Given the description of an element on the screen output the (x, y) to click on. 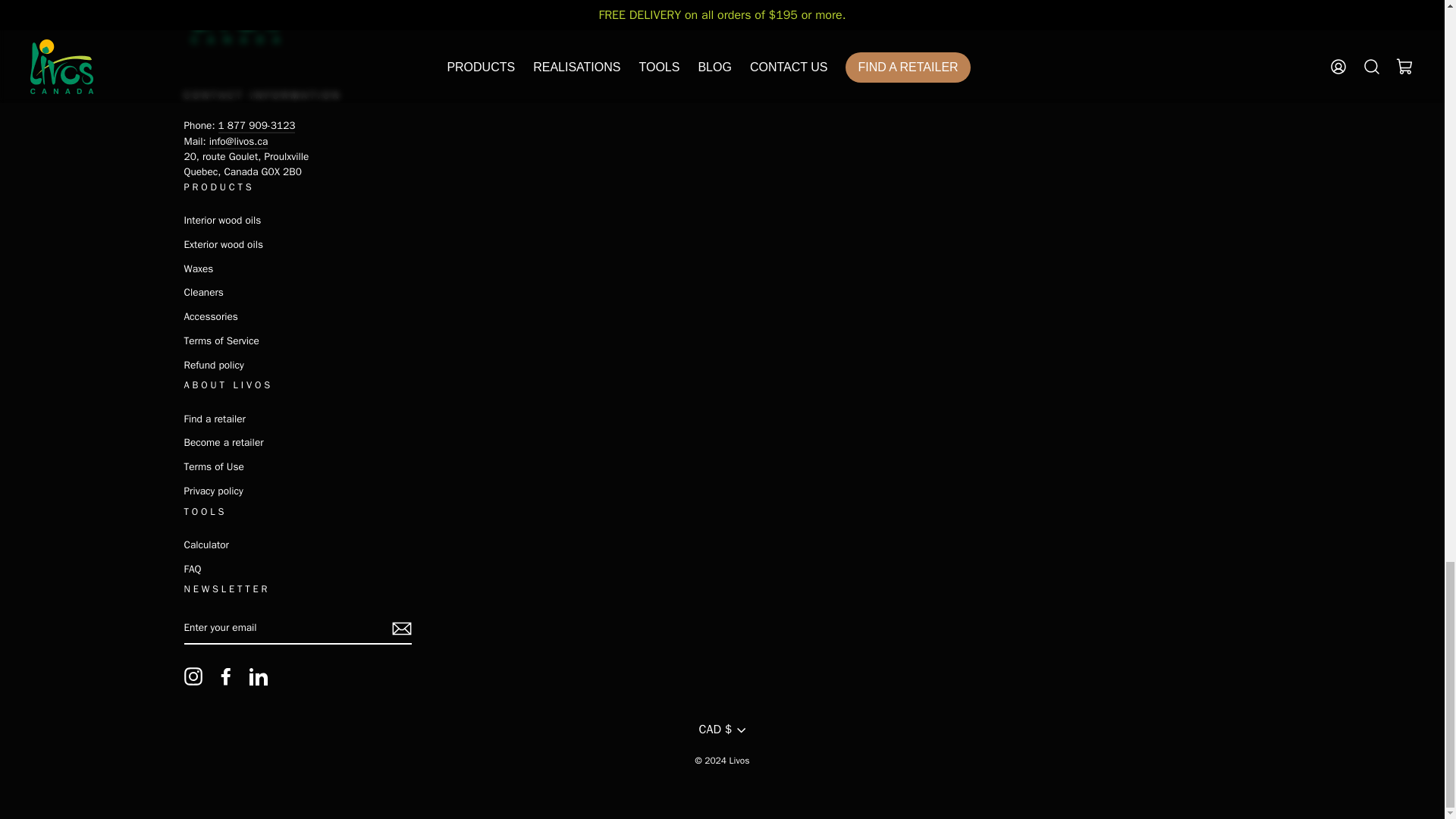
1 877 909-3123 (256, 125)
Livos on Facebook (225, 676)
Terms of Service (221, 341)
Interior wood oils (221, 219)
Livos on Instagram (192, 676)
Exterior wood oils (223, 244)
Waxes (197, 268)
Accessories (210, 316)
tel:1-877-909-3123 (256, 125)
Cleaners (202, 292)
Livos on LinkedIn (257, 676)
